Given the description of an element on the screen output the (x, y) to click on. 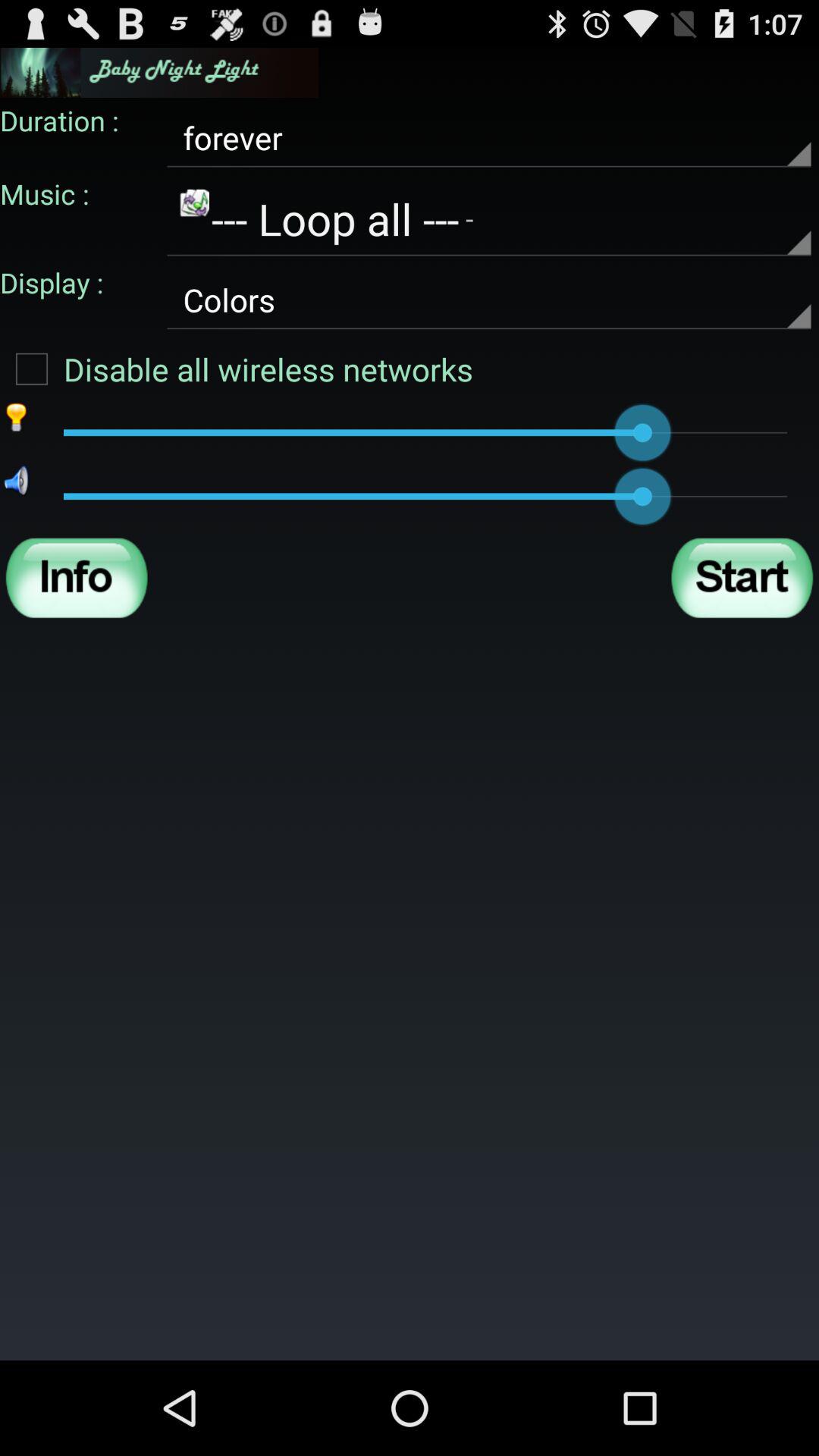
select the colors button (488, 300)
click on forever drop down (488, 137)
click on the button having the text start (742, 577)
